Given the description of an element on the screen output the (x, y) to click on. 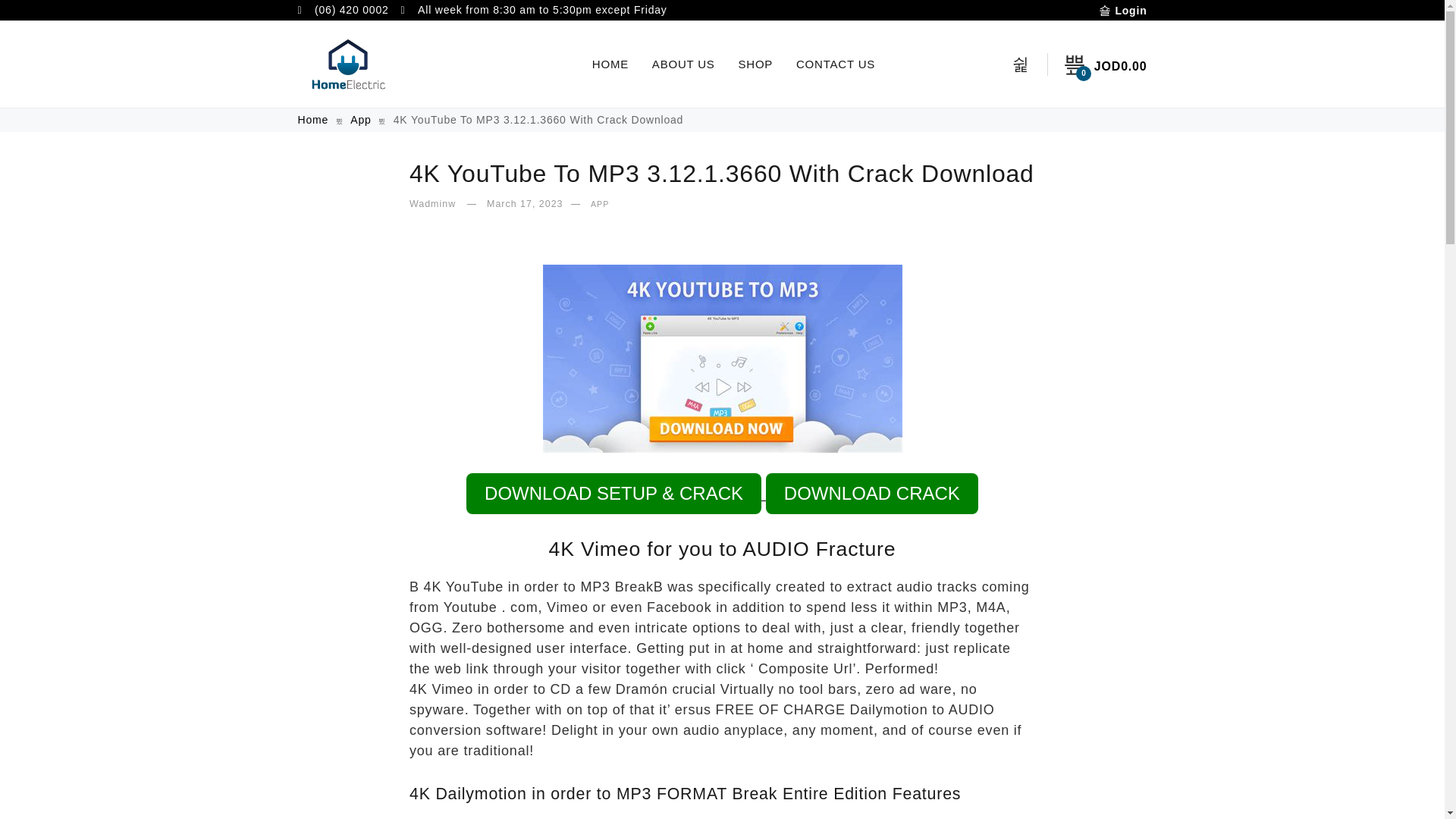
wadminw (434, 205)
APP (599, 205)
DOWNLOAD CRACK (871, 493)
SHOP (755, 64)
Home (314, 119)
App (360, 119)
Login (722, 483)
CONTACT US (835, 64)
HOME (610, 64)
ABOUT US (683, 64)
